Given the description of an element on the screen output the (x, y) to click on. 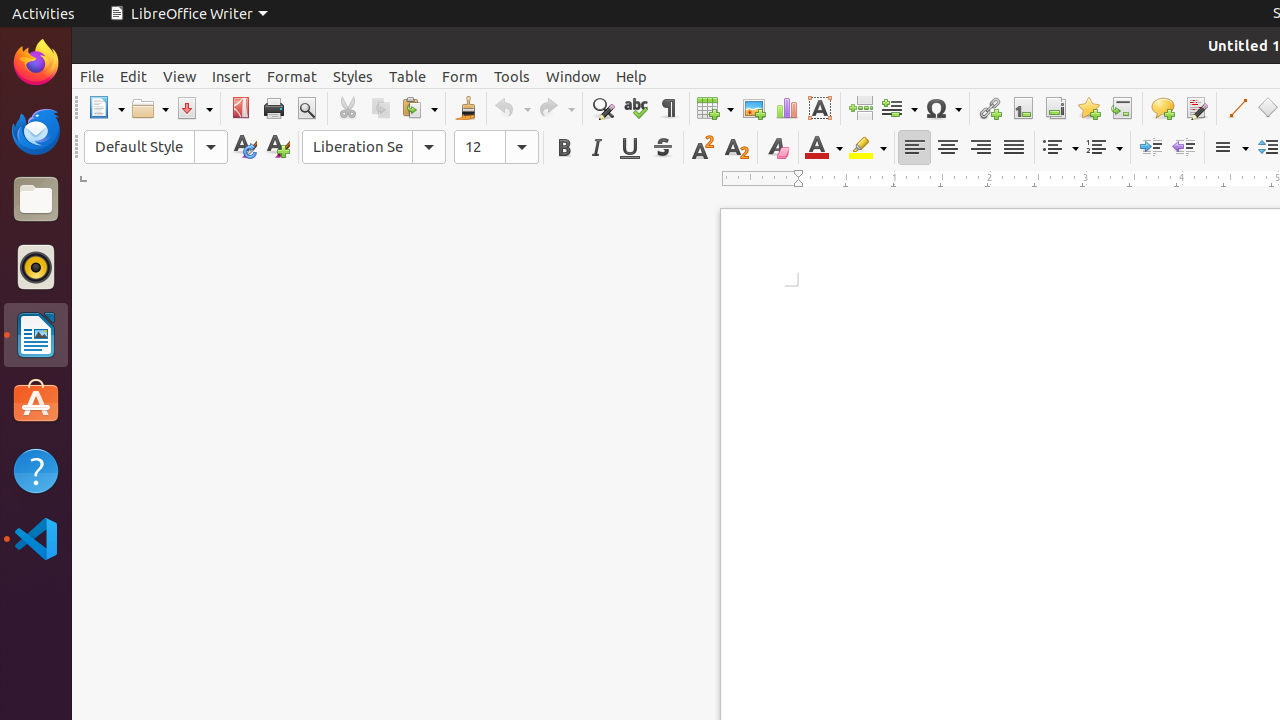
Footnote Element type: push-button (1022, 108)
Print Preview Element type: toggle-button (306, 108)
Visual Studio Code Element type: push-button (36, 538)
Italic Element type: toggle-button (596, 147)
Bullets Element type: push-button (1060, 147)
